Given the description of an element on the screen output the (x, y) to click on. 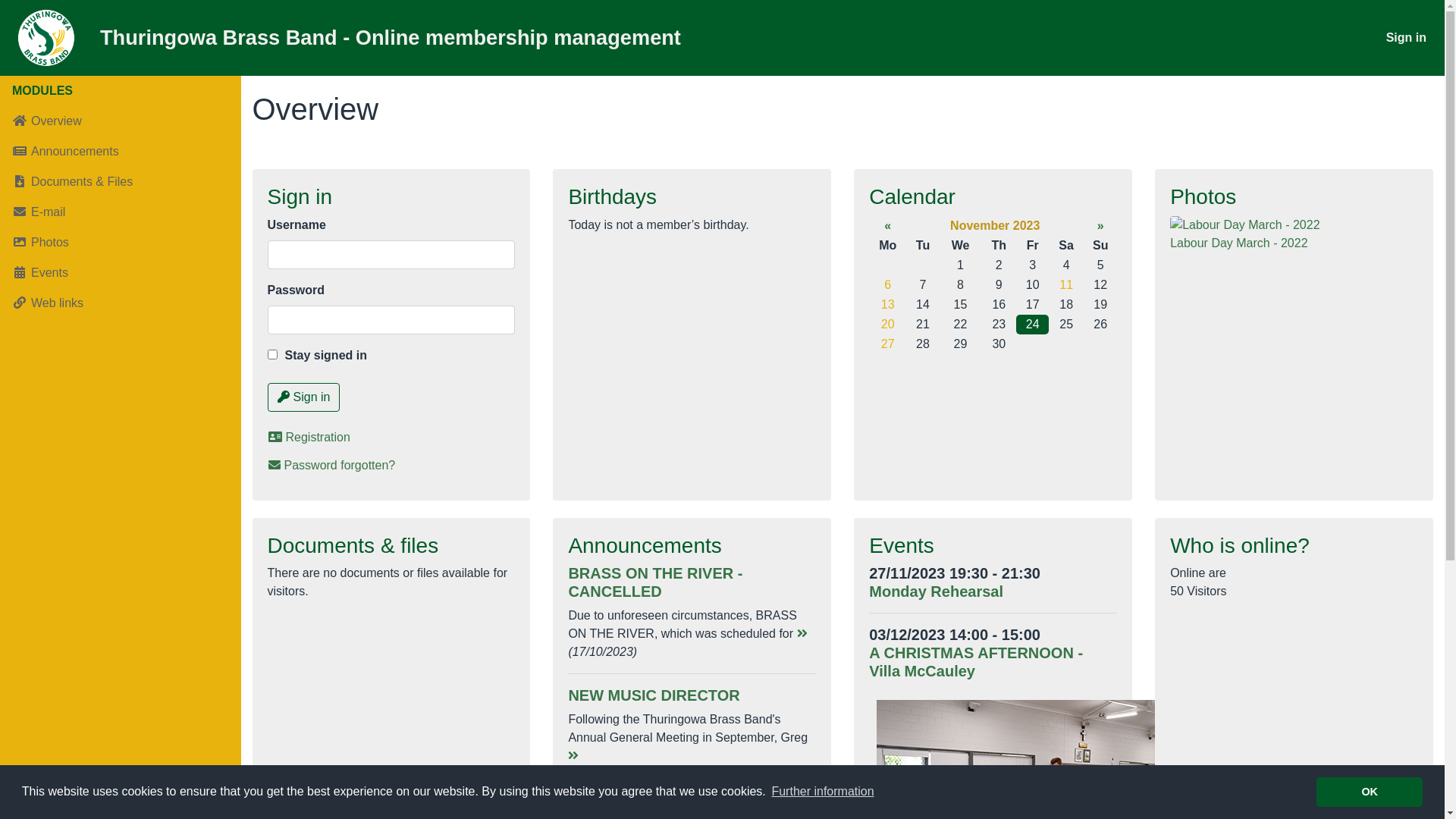
Photos Element type: text (120, 242)
Documents & Files Element type: text (120, 181)
BRASS ON THE RIVER - CANCELLED Element type: text (654, 581)
13 Element type: text (887, 304)
Password forgotten? Element type: text (390, 465)
Sign in Element type: text (1406, 37)
OK Element type: text (1369, 791)
A CHRISTMAS AFTERNOON - Villa McCauley Element type: text (975, 661)
Labour Day March - 2022 Element type: hover (1294, 225)
E-mail Element type: text (120, 212)
Registration Element type: text (390, 437)
Monday Rehearsal Element type: text (936, 591)
11 Element type: text (1066, 284)
Further information Element type: text (822, 791)
Labour Day March - 2022 Element type: text (1238, 242)
Web links Element type: text (120, 303)
Events Element type: text (120, 272)
27 Element type: text (887, 343)
20 Element type: text (887, 323)
NEW MUSIC DIRECTOR Element type: text (653, 695)
Announcements Element type: text (120, 151)
6 Element type: text (887, 284)
Sign in Element type: text (302, 396)
Overview Element type: text (120, 121)
